Given the description of an element on the screen output the (x, y) to click on. 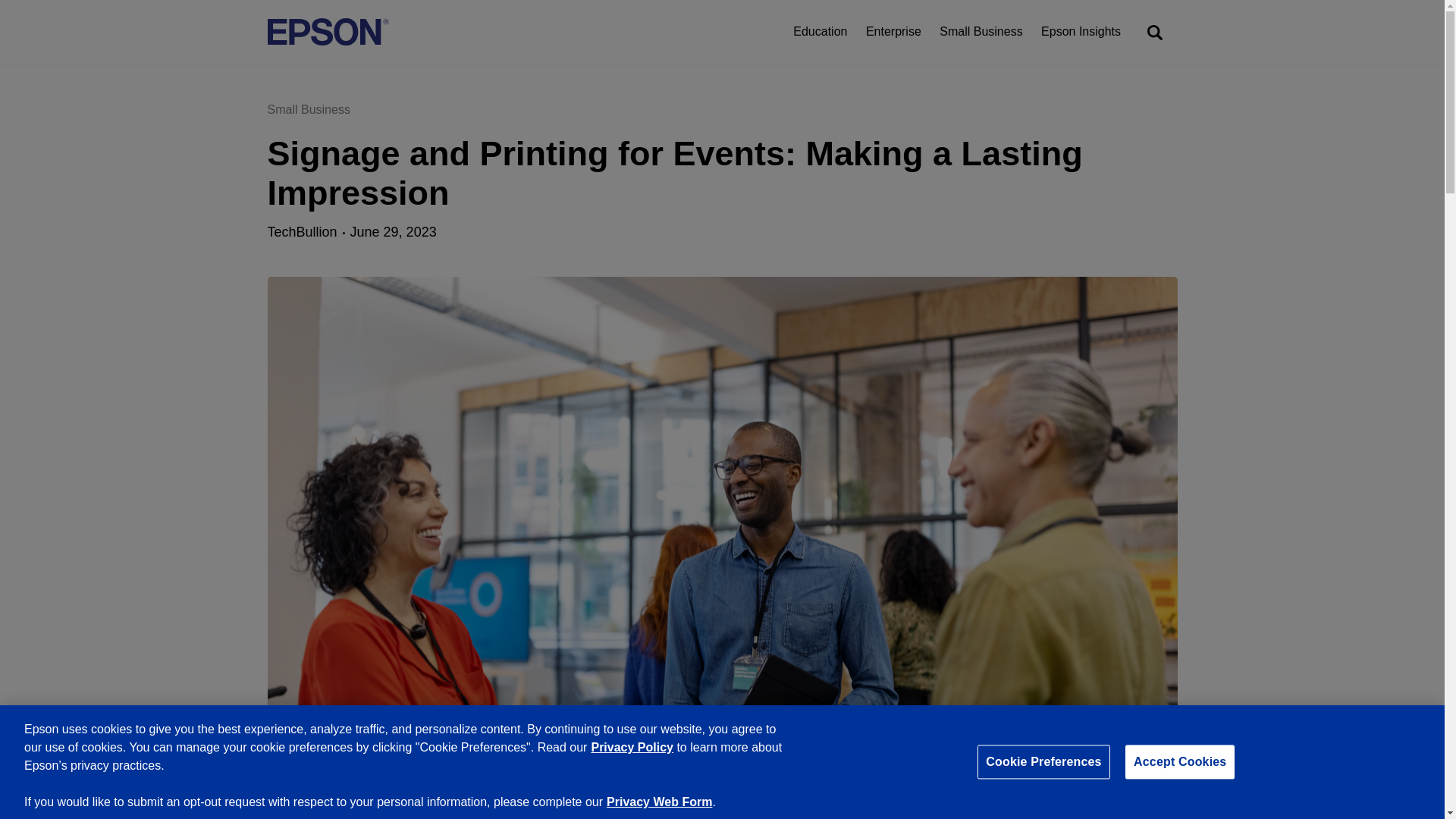
Privacy Web Form (659, 801)
Epson Insights (1080, 31)
Education (820, 31)
Enterprise (893, 31)
Small Business (307, 109)
Small Business (980, 31)
Privacy Policy (631, 747)
